Given the description of an element on the screen output the (x, y) to click on. 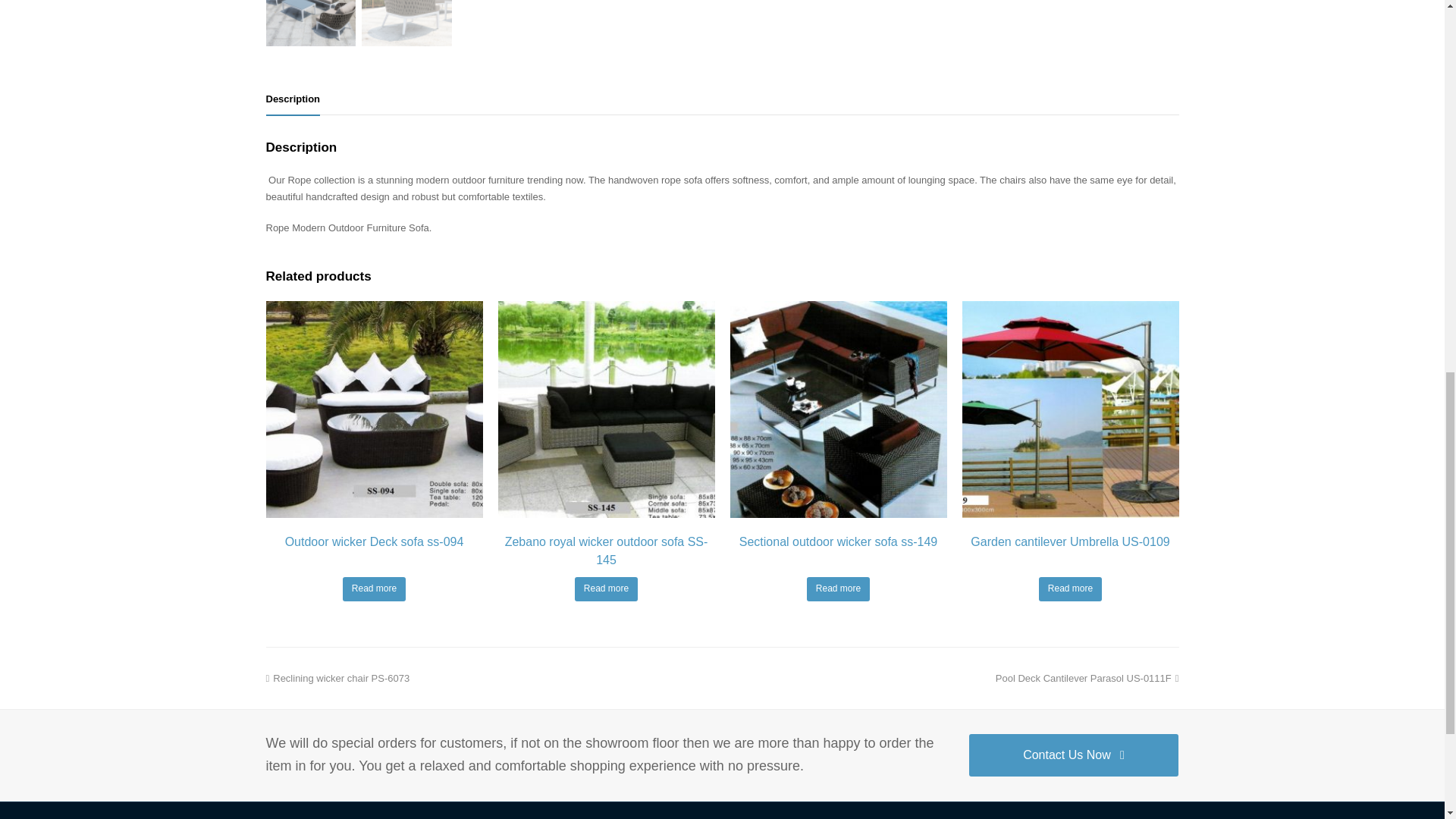
Contact Us Now (1074, 754)
